Given the description of an element on the screen output the (x, y) to click on. 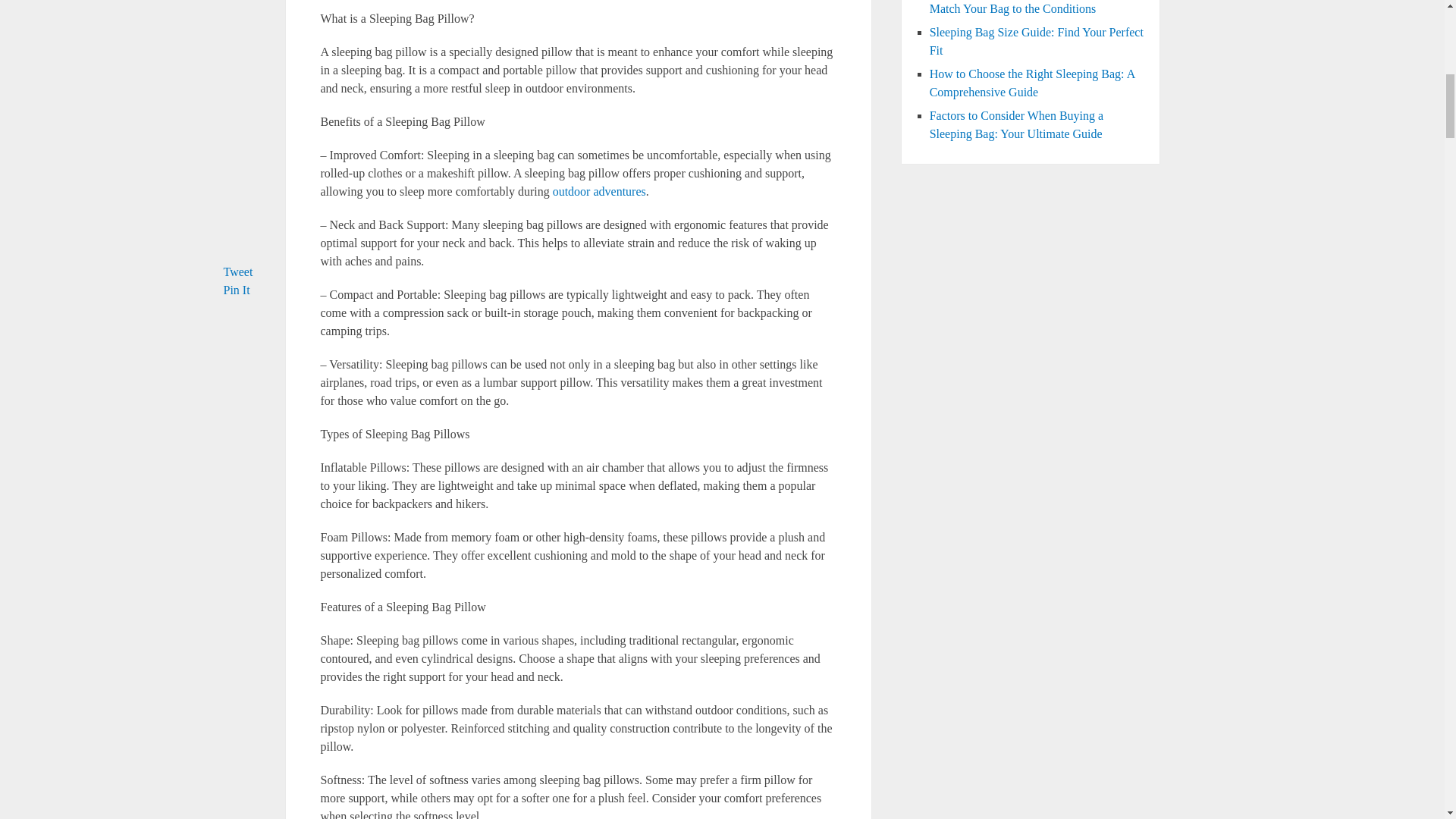
outdoor adventures (599, 191)
